Given the description of an element on the screen output the (x, y) to click on. 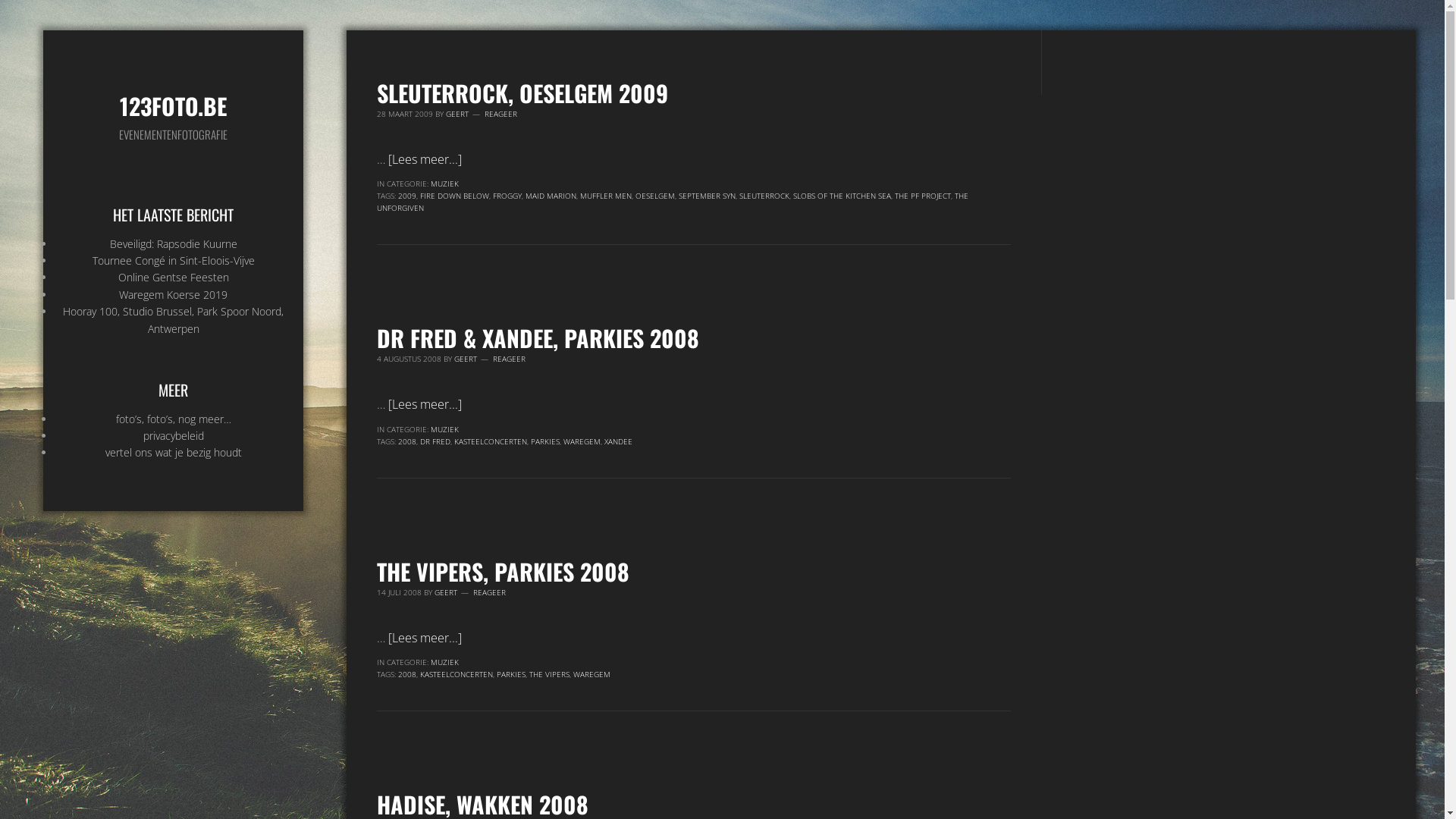
[Lees meer...] Element type: text (424, 403)
REAGEER Element type: text (508, 358)
DR FRED & XANDEE, PARKIES 2008 Element type: text (537, 337)
KASTEELCONCERTEN Element type: text (490, 441)
2009 Element type: text (407, 195)
MUFFLER MEN Element type: text (605, 195)
GEERT Element type: text (456, 113)
WAREGEM Element type: text (581, 441)
123FOTO.BE Element type: text (172, 105)
REAGEER Element type: text (489, 591)
PARKIES Element type: text (510, 673)
MUZIEK Element type: text (444, 183)
OESELGEM Element type: text (654, 195)
REAGEER Element type: text (500, 113)
[Lees meer...] Element type: text (424, 158)
Beveiligd: Rapsodie Kuurne Element type: text (173, 243)
MUZIEK Element type: text (444, 661)
privacybeleid Element type: text (173, 435)
2008 Element type: text (407, 673)
SEPTEMBER SYN Element type: text (706, 195)
Waregem Koerse 2019 Element type: text (173, 294)
THE VIPERS Element type: text (549, 673)
MAID MARION Element type: text (550, 195)
GEERT Element type: text (445, 591)
vertel ons wat je bezig houdt Element type: text (173, 452)
FIRE DOWN BELOW Element type: text (454, 195)
KASTEELCONCERTEN Element type: text (456, 673)
THE UNFORGIVEN Element type: text (672, 201)
FROGGY Element type: text (506, 195)
SLOBS OF THE KITCHEN SEA Element type: text (842, 195)
SLEUTERROCK, OESELGEM 2009 Element type: text (522, 92)
DR FRED Element type: text (435, 441)
SLEUTERROCK Element type: text (764, 195)
WAREGEM Element type: text (591, 673)
Hooray 100, Studio Brussel, Park Spoor Noord, Antwerpen Element type: text (172, 319)
THE VIPERS, PARKIES 2008 Element type: text (502, 571)
THE PF PROJECT Element type: text (922, 195)
MUZIEK Element type: text (444, 428)
Online Gentse Feesten Element type: text (173, 276)
PARKIES Element type: text (544, 441)
GEERT Element type: text (465, 358)
[Lees meer...] Element type: text (424, 637)
2008 Element type: text (407, 441)
XANDEE Element type: text (618, 441)
